Given the description of an element on the screen output the (x, y) to click on. 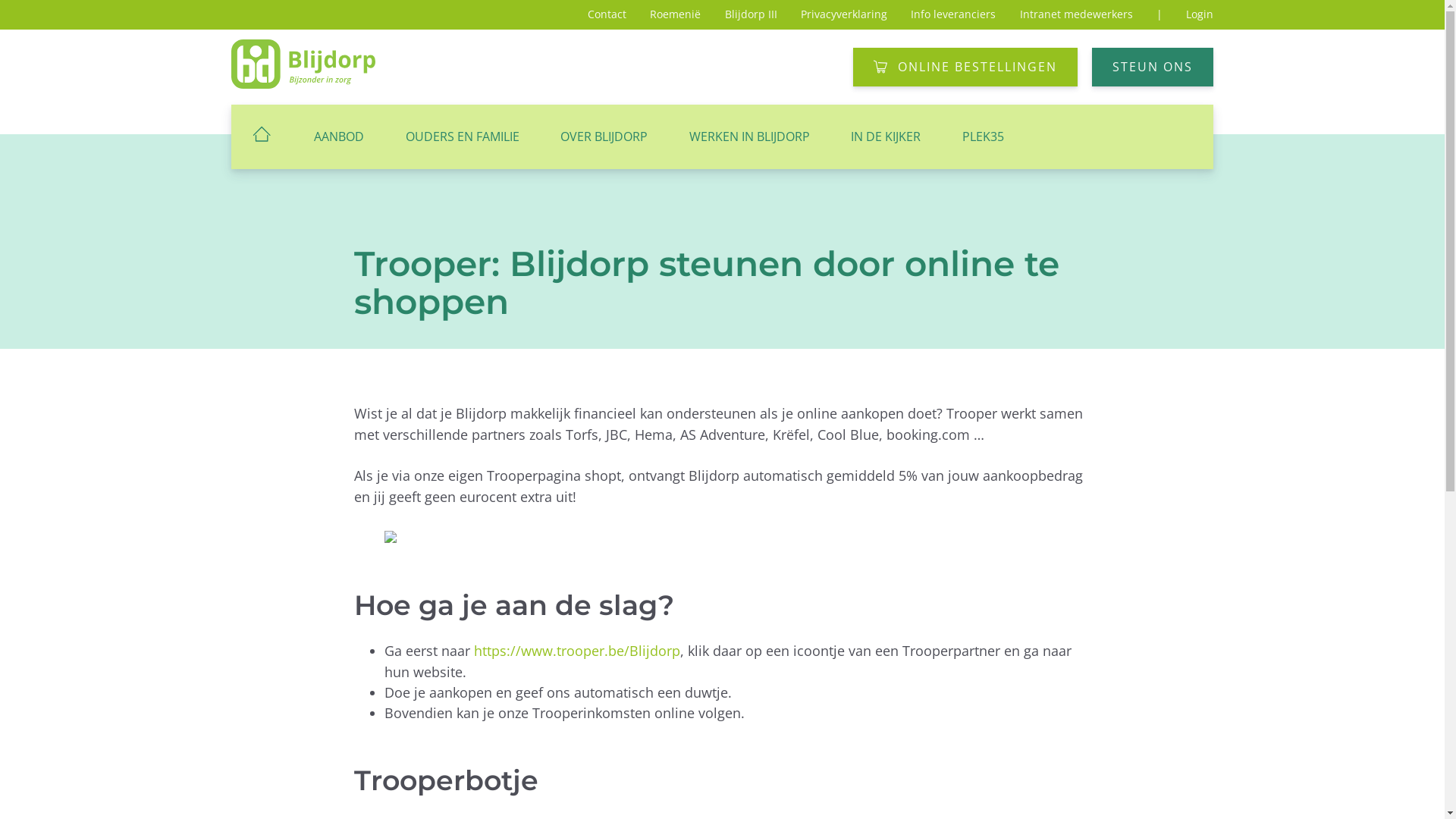
Blijdorp III Element type: text (750, 13)
WERKEN IN BLIJDORP Element type: text (749, 136)
Intranet medewerkers Element type: text (1075, 13)
Login Element type: text (1199, 13)
OVER BLIJDORP Element type: text (603, 136)
Contact Element type: text (606, 13)
https://www.trooper.be/Blijdorp Element type: text (576, 650)
PLEK35 Element type: text (983, 136)
Info leveranciers Element type: text (952, 13)
OUDERS EN FAMILIE Element type: text (461, 136)
STEUN ONS Element type: text (1153, 66)
ONLINE BESTELLINGEN Element type: text (965, 66)
Privacyverklaring Element type: text (843, 13)
